Given the description of an element on the screen output the (x, y) to click on. 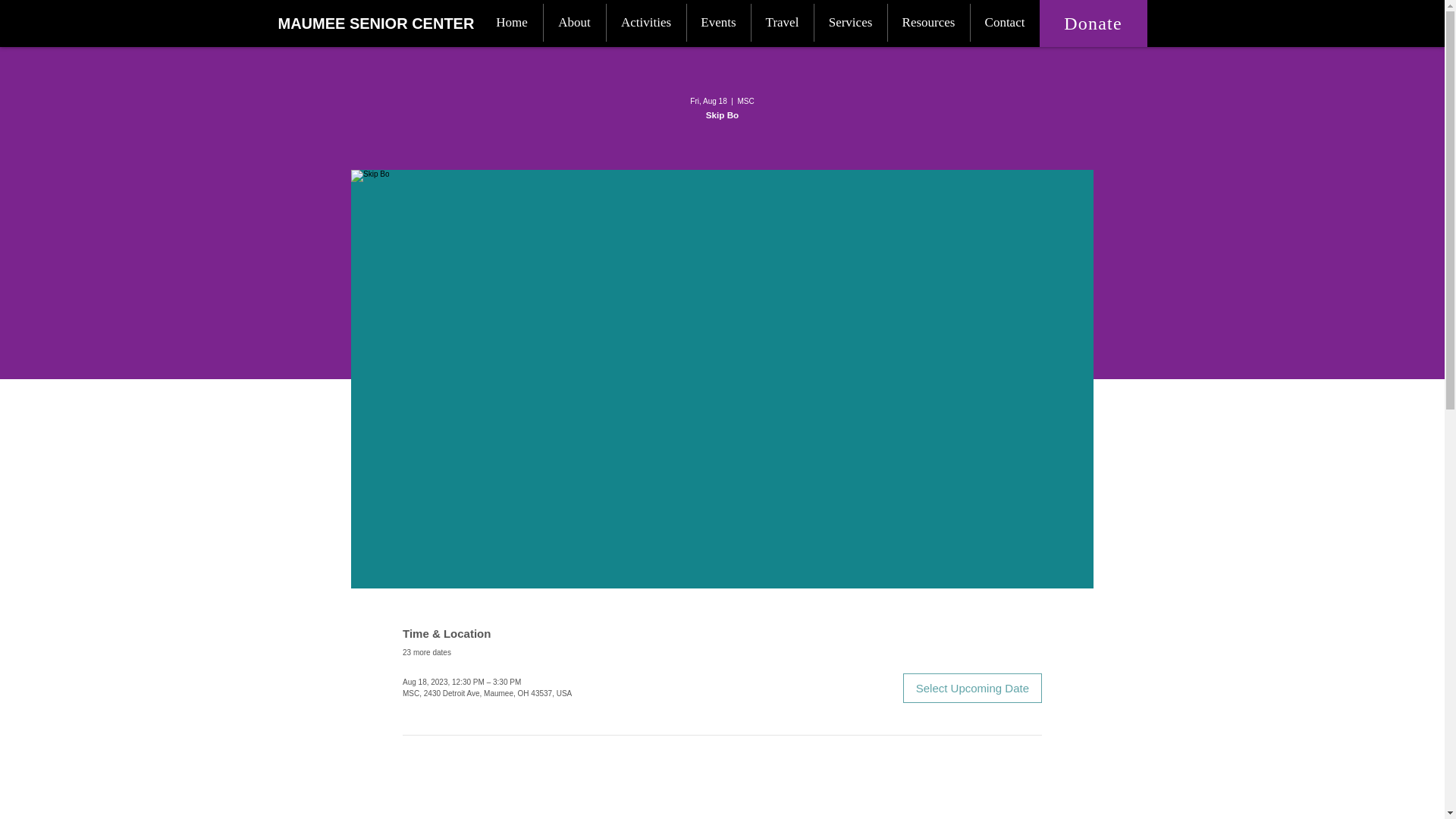
MAUMEE SENIOR CENTER (376, 23)
About (574, 22)
Events (719, 22)
Select Upcoming Date (972, 687)
Donate (1093, 23)
Activities (646, 22)
Contact (1005, 22)
Travel (781, 22)
Home (510, 22)
Services (849, 22)
Resources (927, 22)
